Given the description of an element on the screen output the (x, y) to click on. 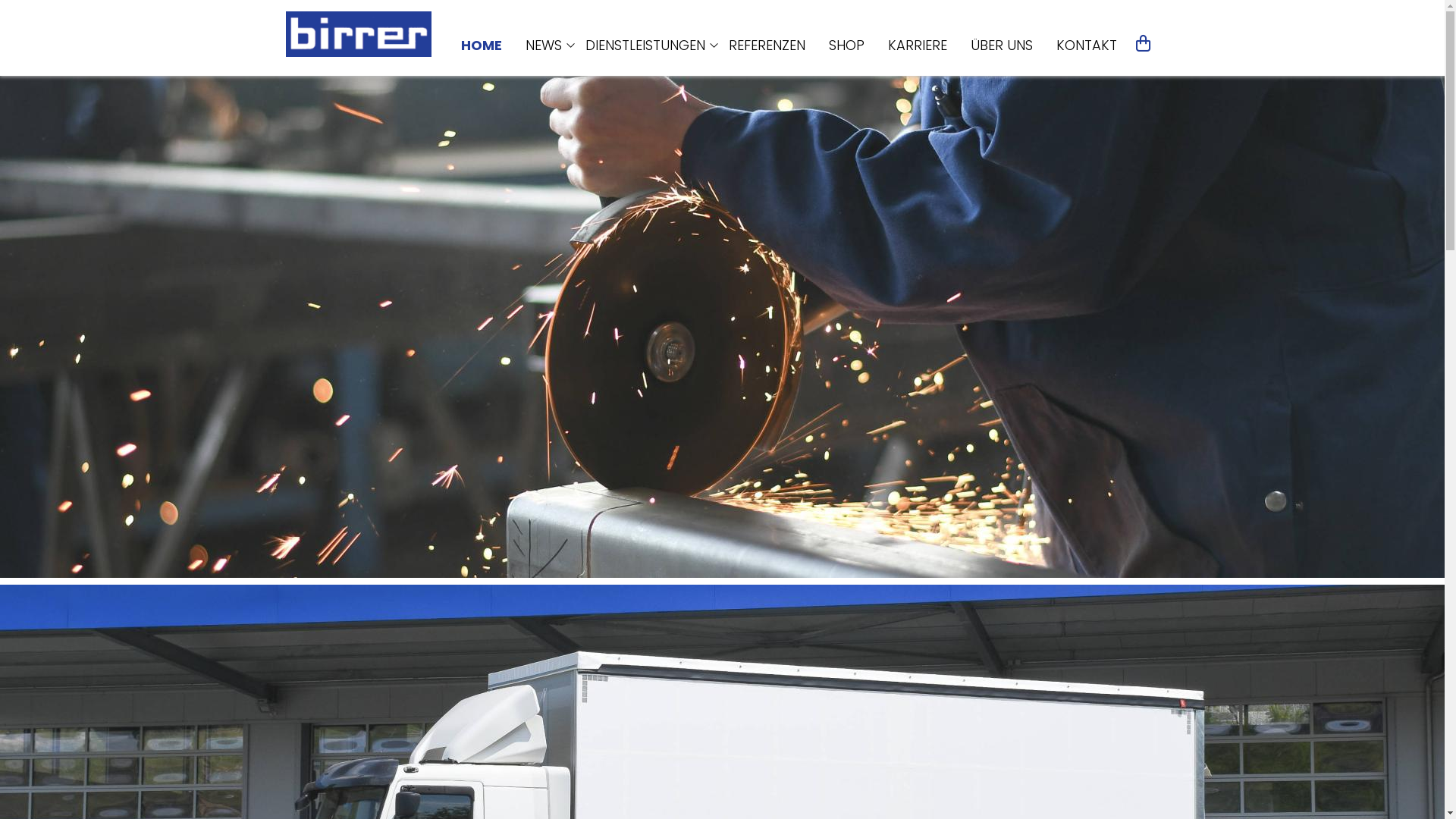
HOME Element type: text (481, 44)
NEWS Element type: text (542, 44)
KARRIERE Element type: text (916, 44)
DIENSTLEISTUNGEN Element type: text (645, 44)
REFERENZEN Element type: text (766, 44)
SHOP Element type: text (845, 44)
KONTAKT Element type: text (1085, 44)
